Given the description of an element on the screen output the (x, y) to click on. 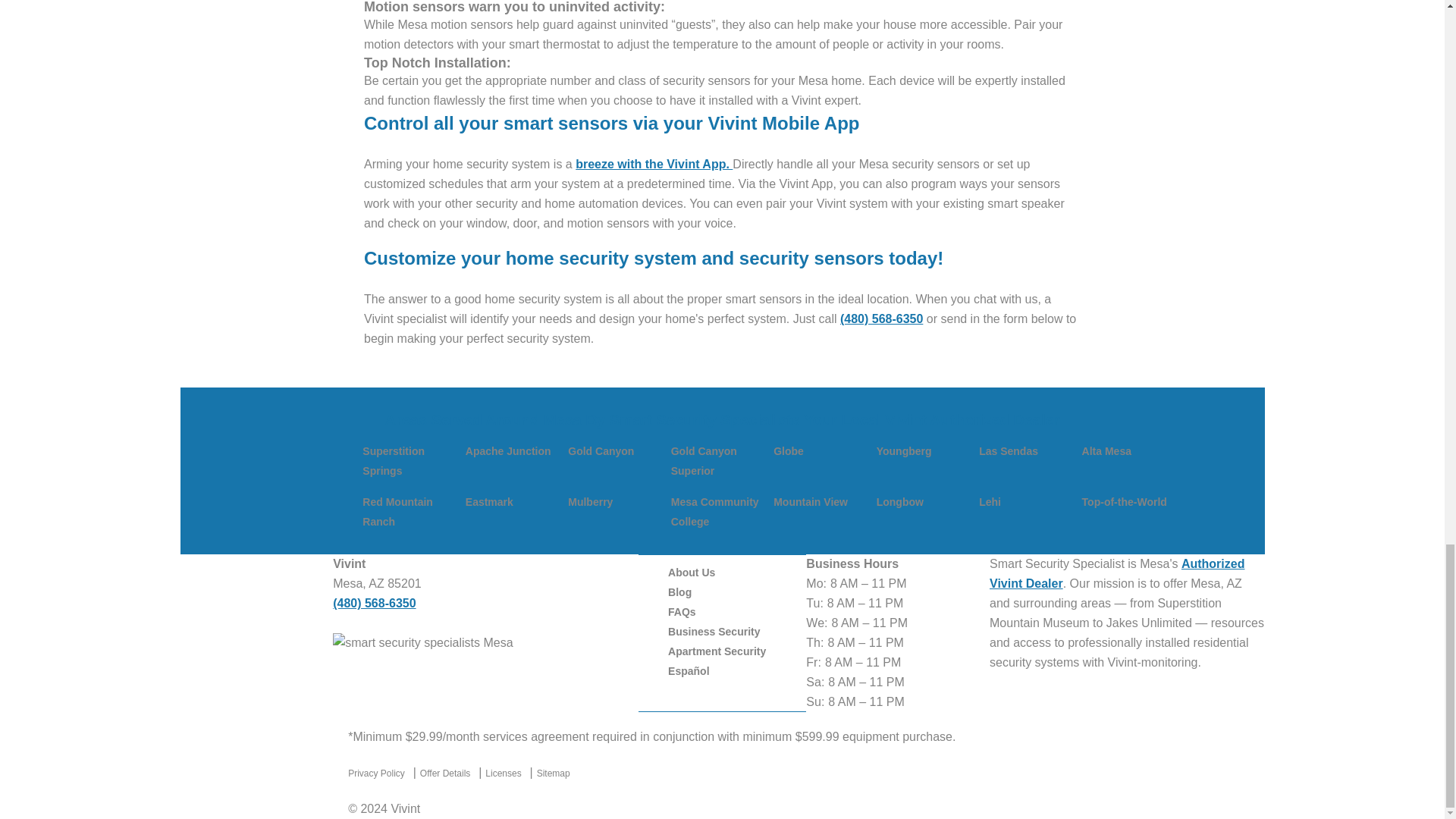
The Vivint App (653, 164)
Superstition Springs (393, 460)
Apache Junction (508, 451)
breeze with the Vivint App. (653, 164)
Gold Canyon (600, 451)
Gold Canyon Superior (703, 460)
